Given the description of an element on the screen output the (x, y) to click on. 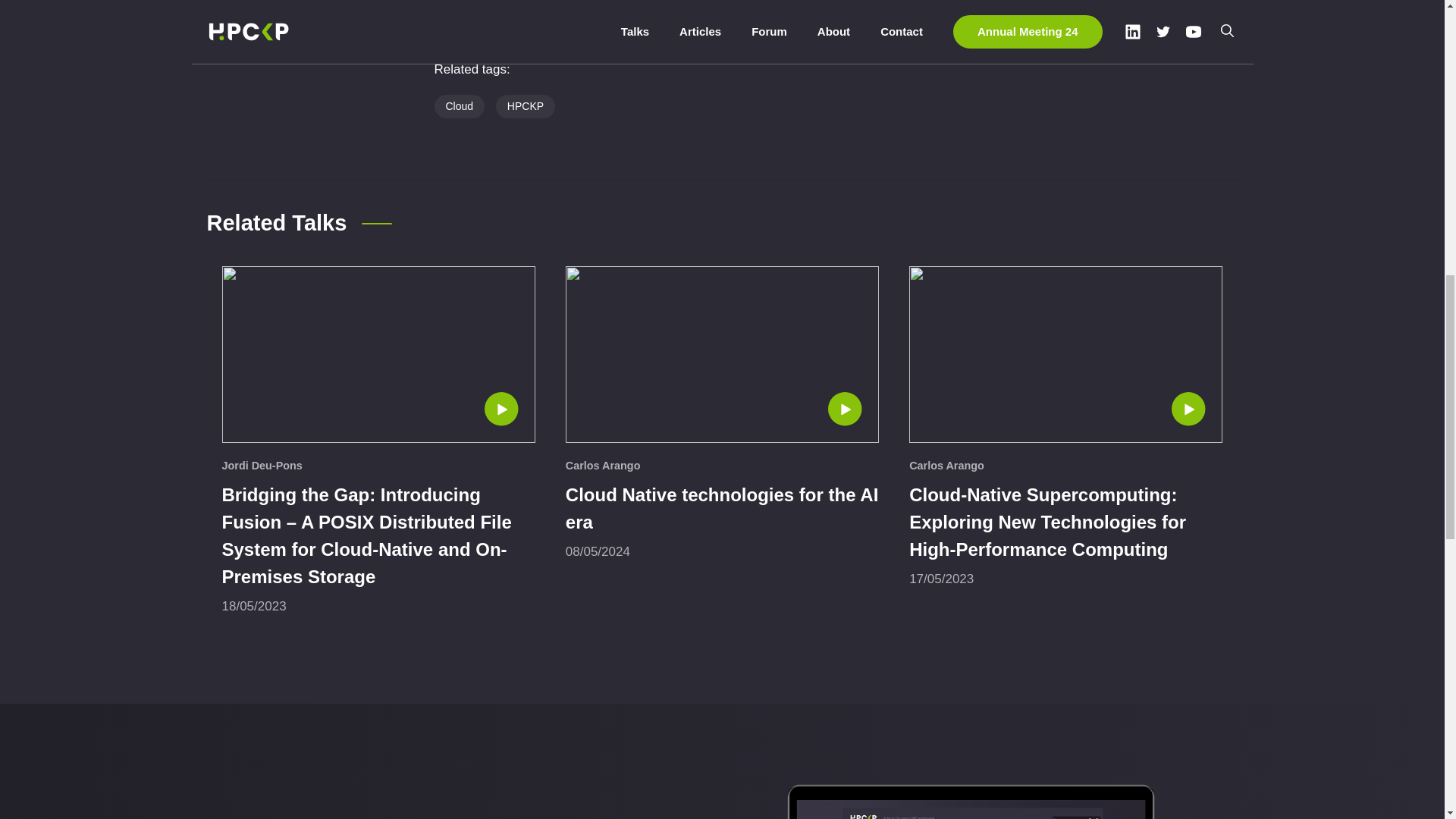
Cloud (458, 106)
HPCKP (525, 106)
Cloud Native technologies for the AI era (721, 508)
